Given the description of an element on the screen output the (x, y) to click on. 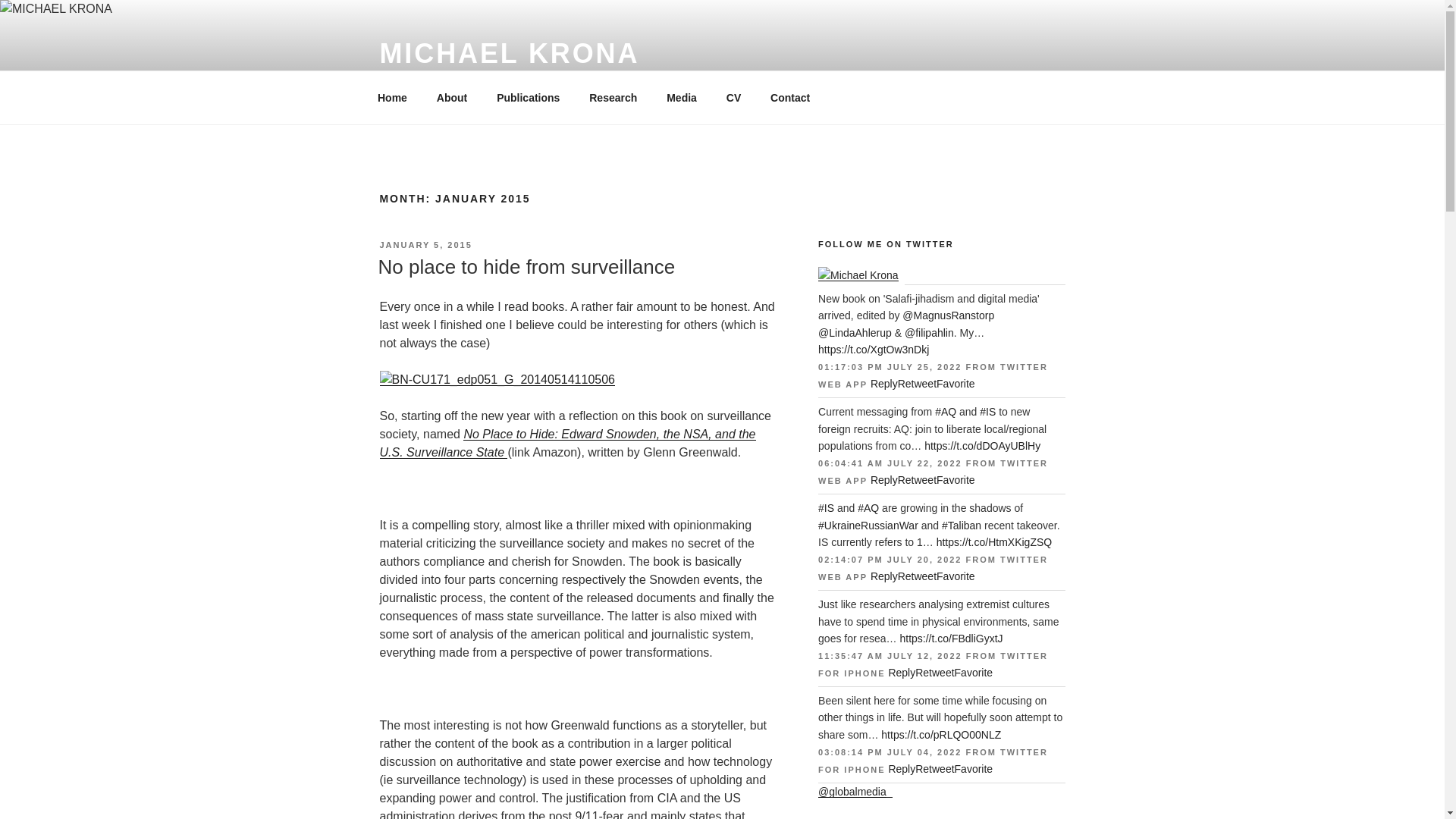
TWITTER WEB APP (933, 375)
Reply (884, 480)
TWITTER WEB APP (933, 471)
Publications (528, 97)
Retweet (917, 480)
Reply (884, 383)
06:04:41 AM JULY 22, 2022 (890, 462)
Favorite (973, 768)
